Given the description of an element on the screen output the (x, y) to click on. 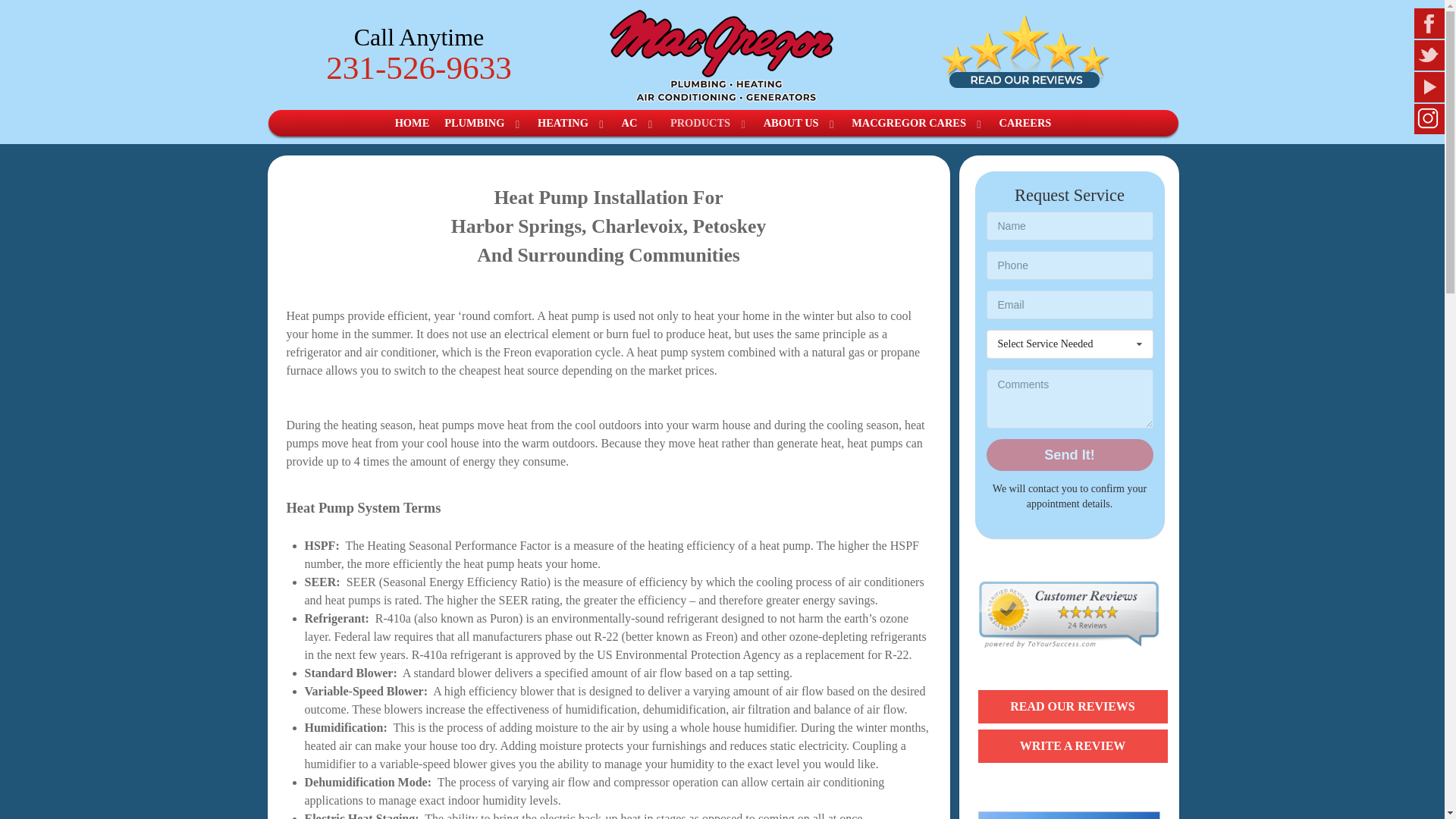
PLUMBING (483, 123)
231-526-9633 (419, 67)
HOME (411, 122)
Read Our Reviews (1024, 50)
AC (638, 123)
HEATING (572, 123)
MacGregor Plumbing (721, 55)
Careers (1069, 815)
MacGregor Plumbing (721, 53)
PRODUCTS (708, 123)
